Given the description of an element on the screen output the (x, y) to click on. 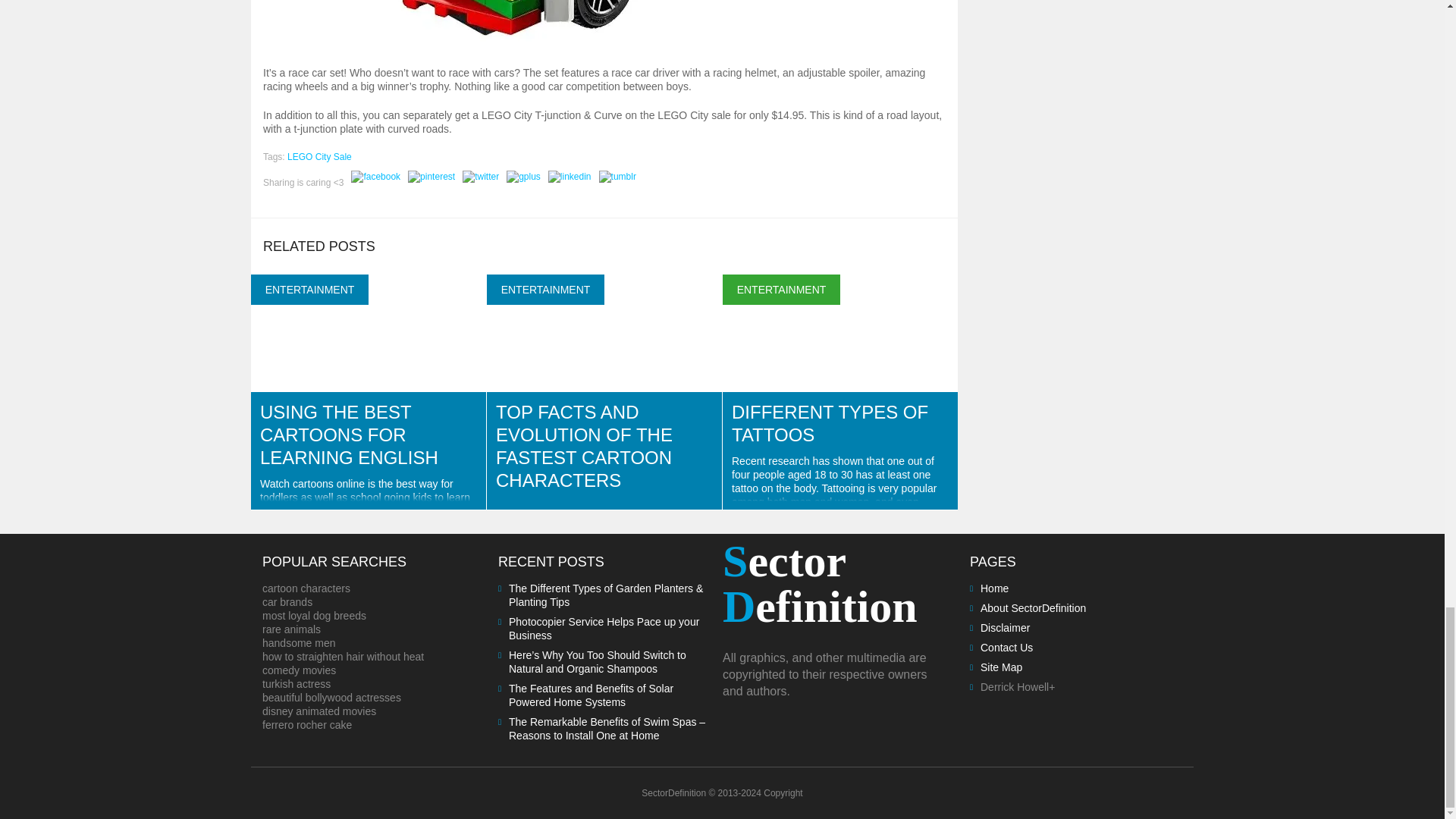
LEGO City Sale (319, 156)
